Given the description of an element on the screen output the (x, y) to click on. 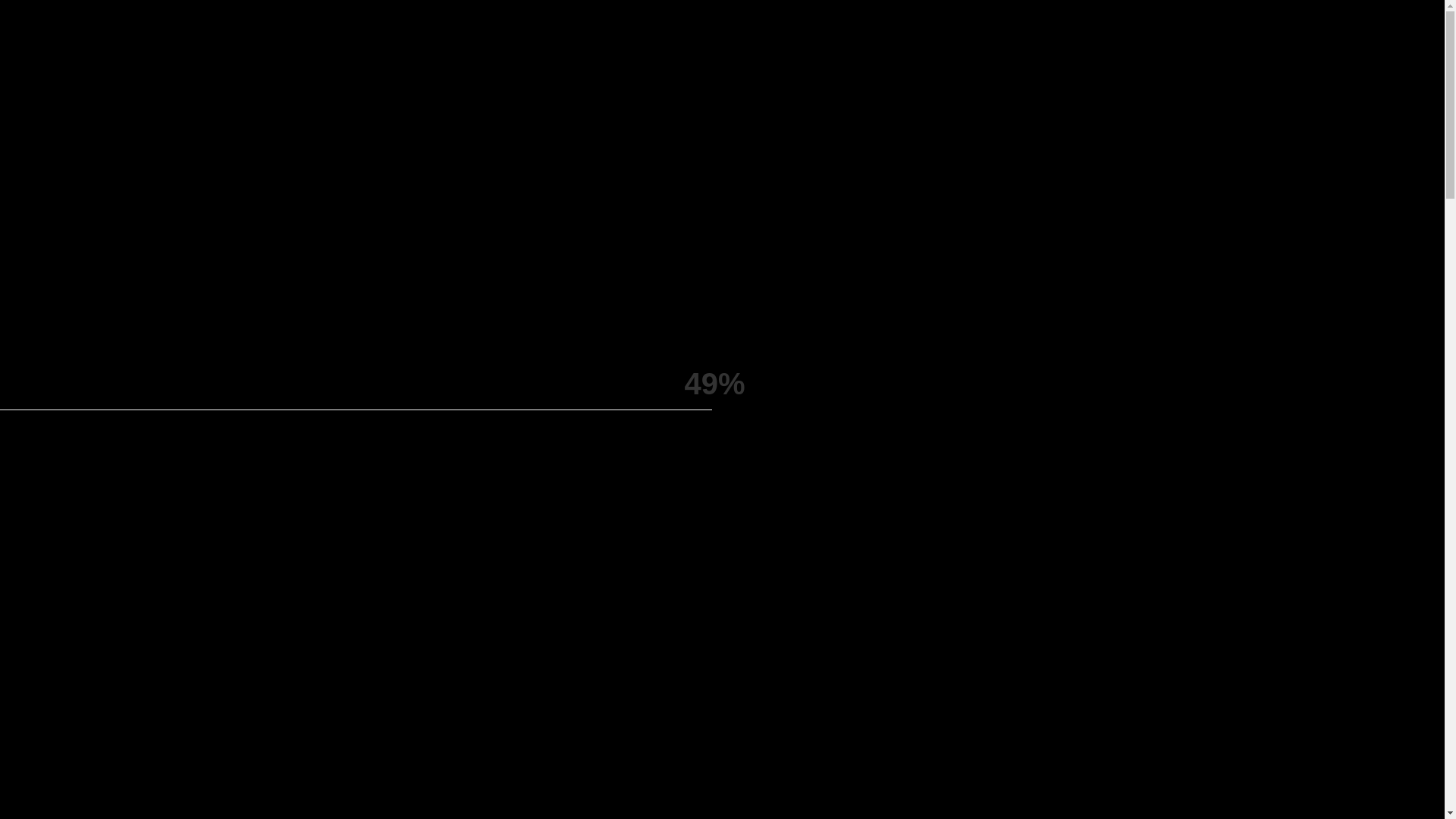
CONTACT US Element type: text (956, 60)
Read More Element type: text (765, 302)
PRODUCTS Element type: text (850, 60)
SERVICES Element type: text (746, 60)
HOME Element type: text (496, 60)
COMPANY PROFILE Element type: text (614, 60)
